Given the description of an element on the screen output the (x, y) to click on. 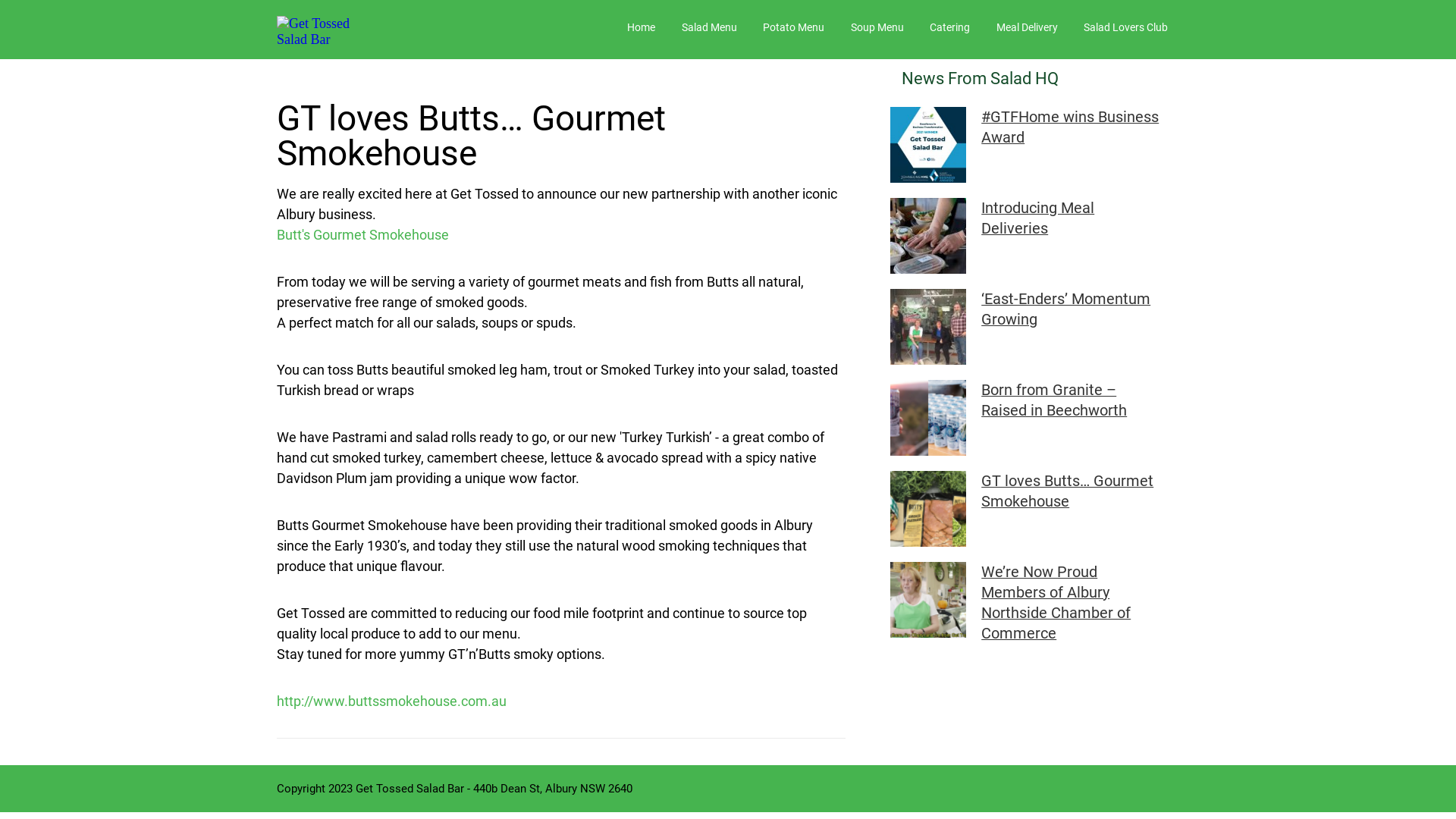
Salad Lovers Club Element type: text (1125, 27)
Catering Element type: text (949, 27)
http://www.buttssmokehouse.com.au Element type: text (391, 701)
#GTFHome wins Business Award Element type: text (1067, 123)
Meal Delivery Element type: text (1026, 27)
Home Element type: text (641, 27)
Salad Menu Element type: text (708, 27)
Potato Menu Element type: text (793, 27)
Butt's Gourmet Smokehouse Element type: text (362, 234)
Introducing Meal Deliveries Element type: text (1067, 214)
Soup Menu Element type: text (876, 27)
